Given the description of an element on the screen output the (x, y) to click on. 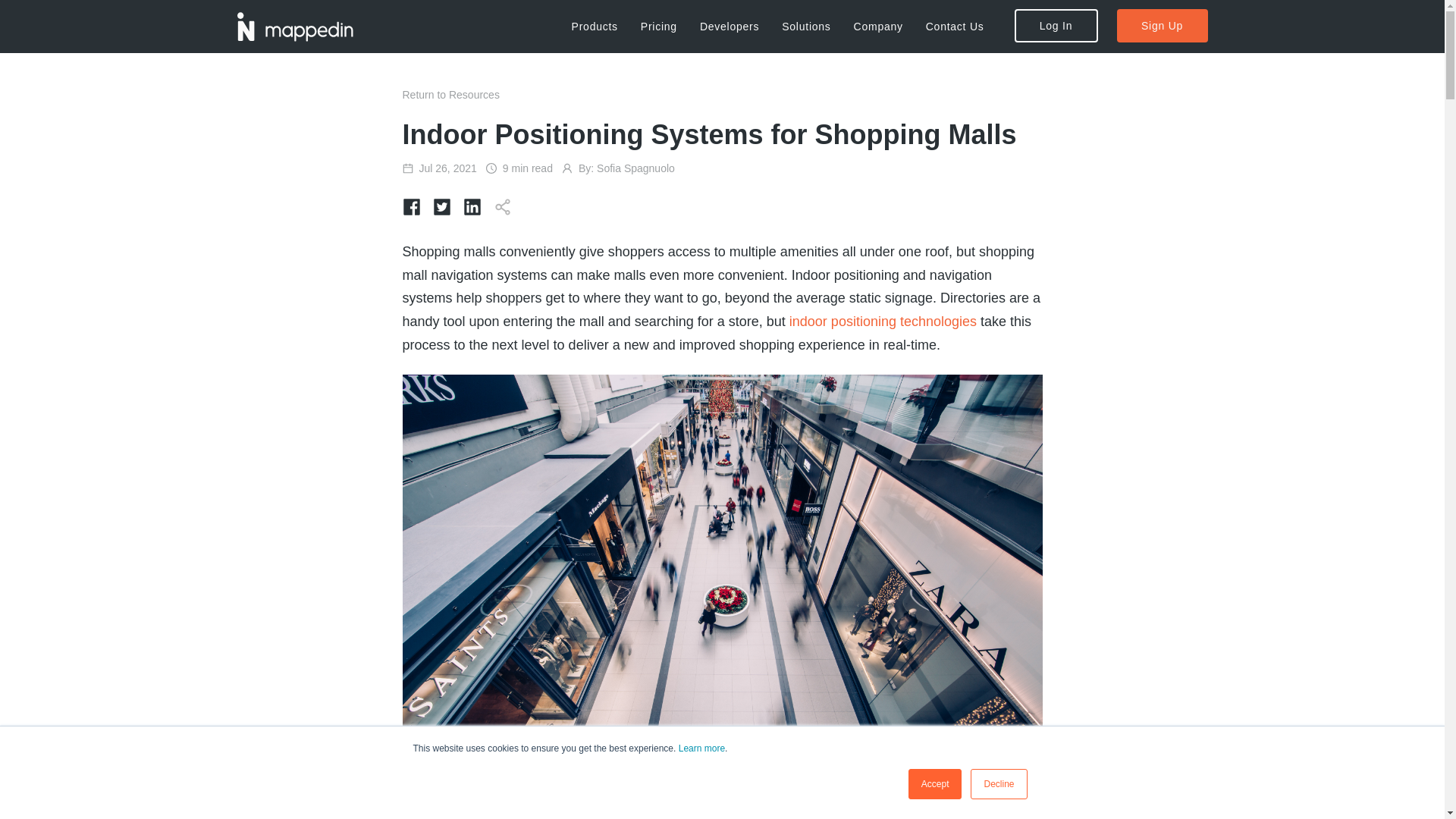
Accept (935, 784)
indoor positioning technologies (882, 321)
Contact Us (955, 26)
Pricing (1055, 25)
Learn more (658, 26)
Return to Resources (701, 747)
Decline (450, 94)
